Given the description of an element on the screen output the (x, y) to click on. 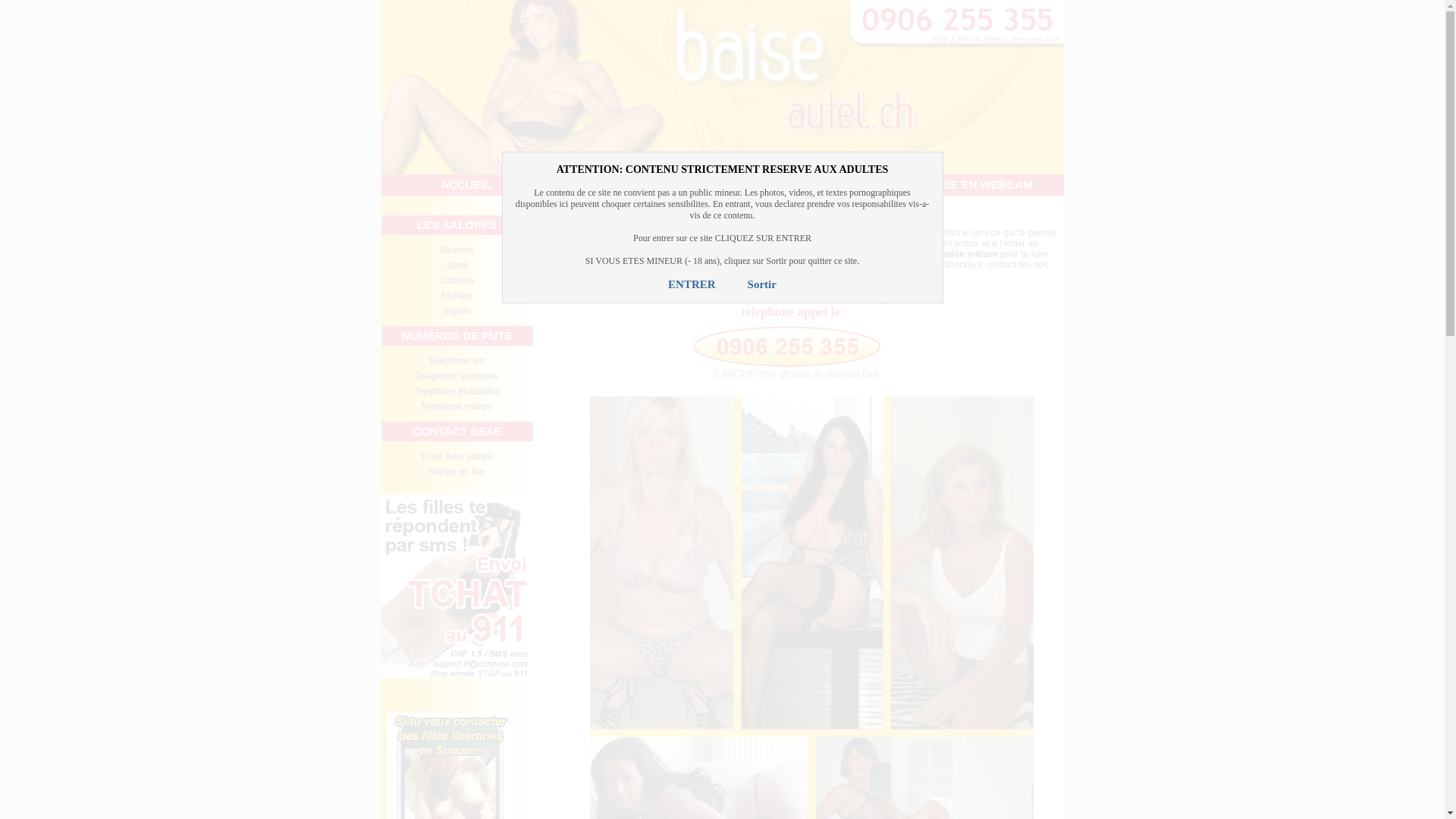
LES SALOPES Element type: text (636, 184)
Tchat avec salope Element type: text (456, 456)
Telephone mature Element type: text (456, 406)
BAISE EN WEBCAM Element type: text (978, 184)
ACCUEIL Element type: text (465, 184)
Myriam Element type: text (456, 295)
LES SALOPES Element type: text (456, 224)
ENTRER Element type: text (691, 284)
Salope en live Element type: text (456, 471)
NUMEROS DE PUTE Element type: text (806, 184)
Ludivine Element type: text (456, 280)
Telephone soumises Element type: text (456, 375)
Sophie Element type: text (456, 310)
Janet Element type: text (456, 265)
Telephone sm Element type: text (456, 360)
Sortir Element type: text (761, 284)
